Given the description of an element on the screen output the (x, y) to click on. 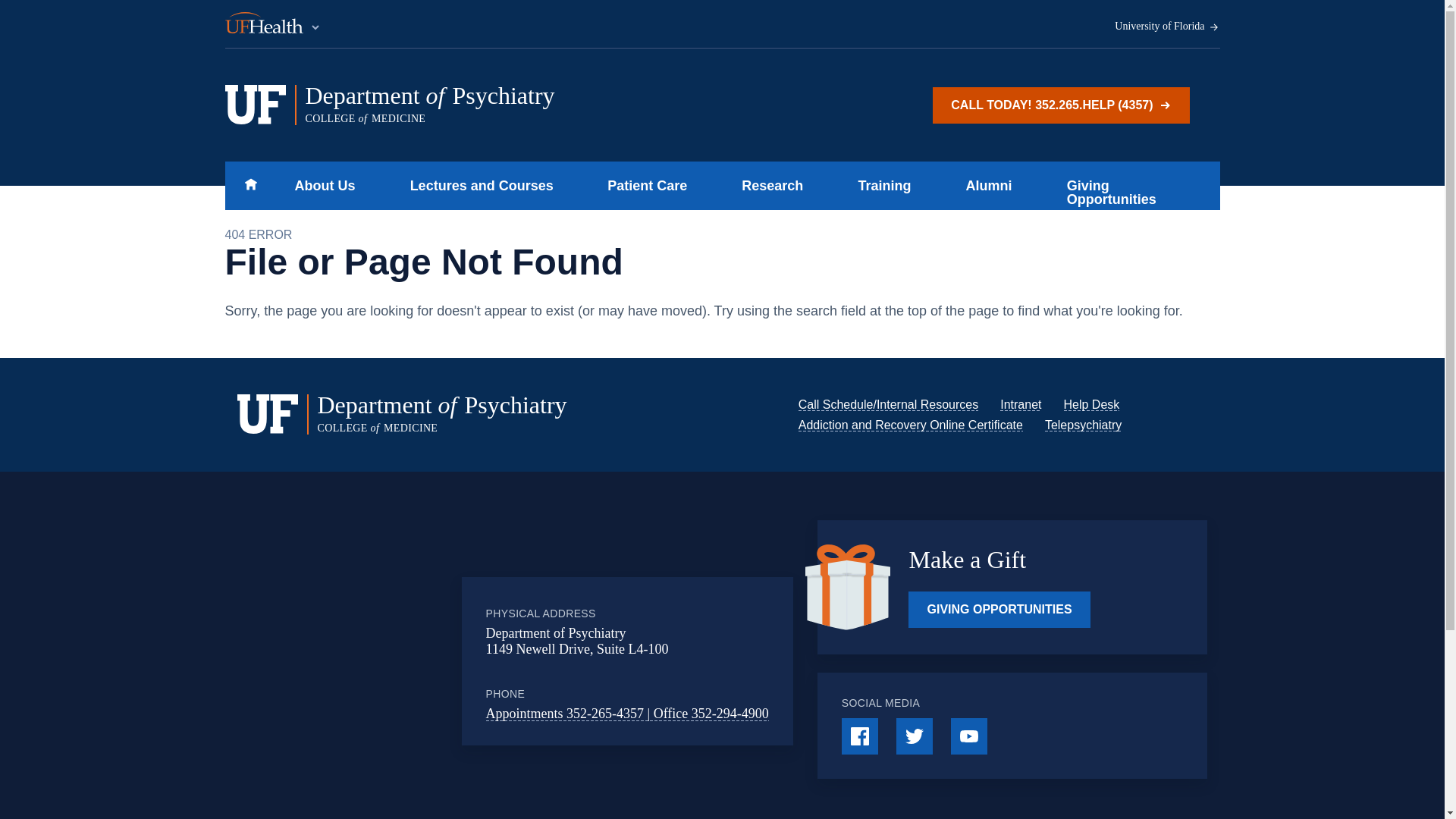
University of Florida (515, 105)
Help Desk (1167, 26)
Skip to main content (1090, 404)
Home (910, 424)
Telepsychiatry (250, 185)
About Us (1083, 424)
Lectures and Courses (320, 185)
